Given the description of an element on the screen output the (x, y) to click on. 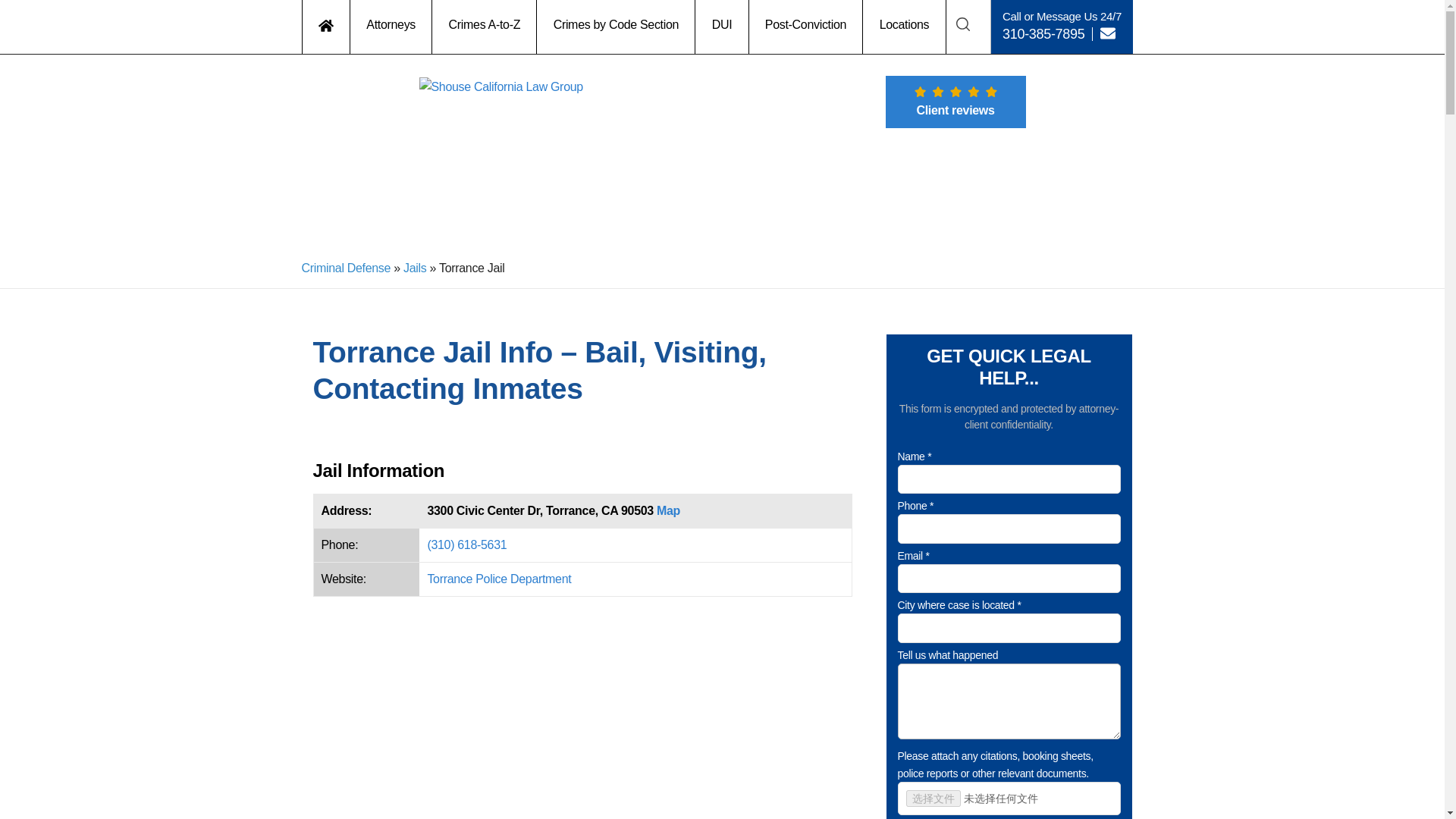
Jails (414, 267)
Crimes A-to-Z (484, 27)
Crimes by Code Section (616, 27)
310-385-7895 (1043, 33)
Torrance Police Department (498, 578)
DUI (721, 27)
Criminal Defense (346, 267)
Criminal Defense (346, 267)
Attorneys (391, 27)
Map (667, 510)
